Given the description of an element on the screen output the (x, y) to click on. 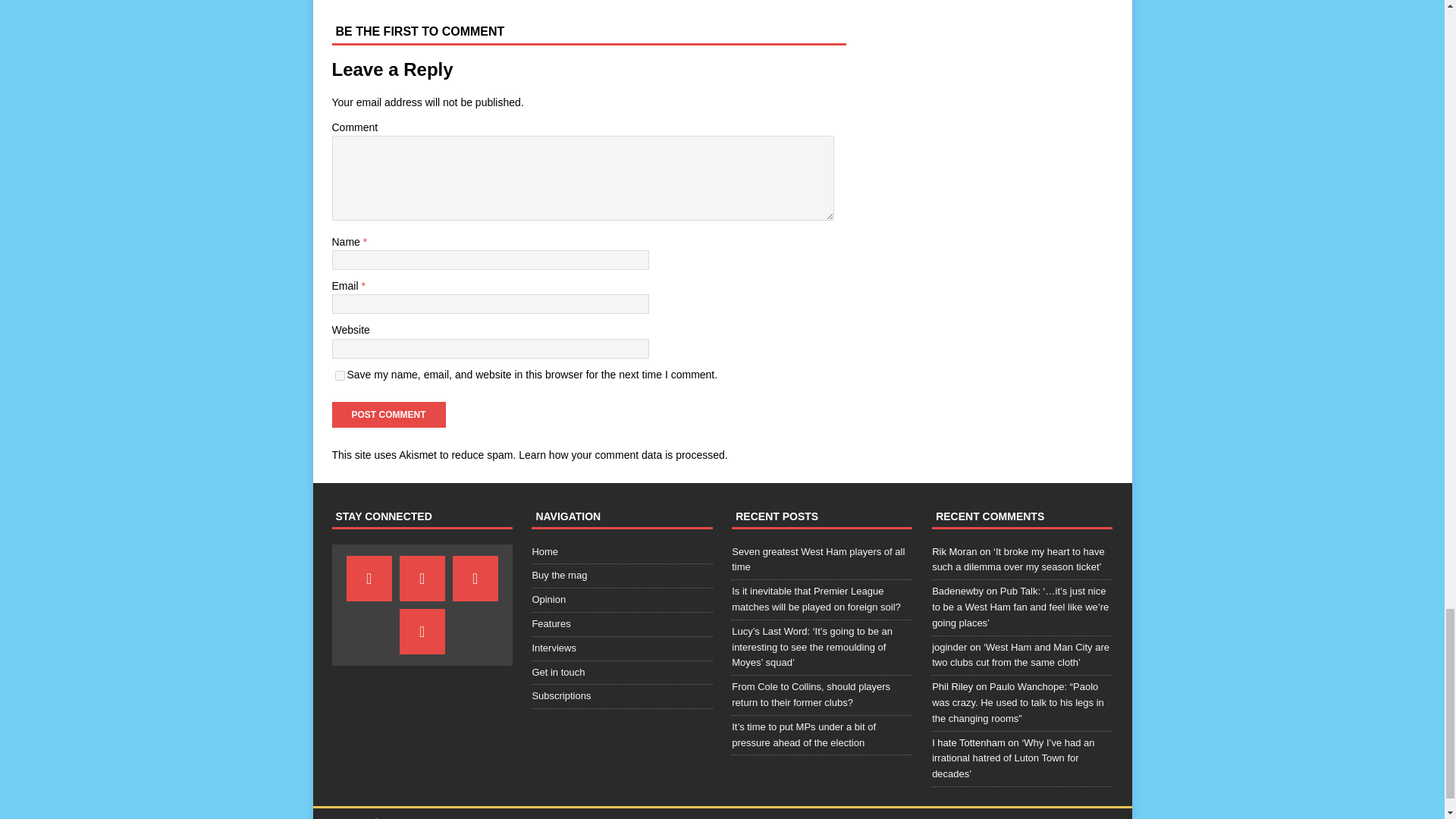
Post Comment (388, 414)
yes (339, 375)
